Given the description of an element on the screen output the (x, y) to click on. 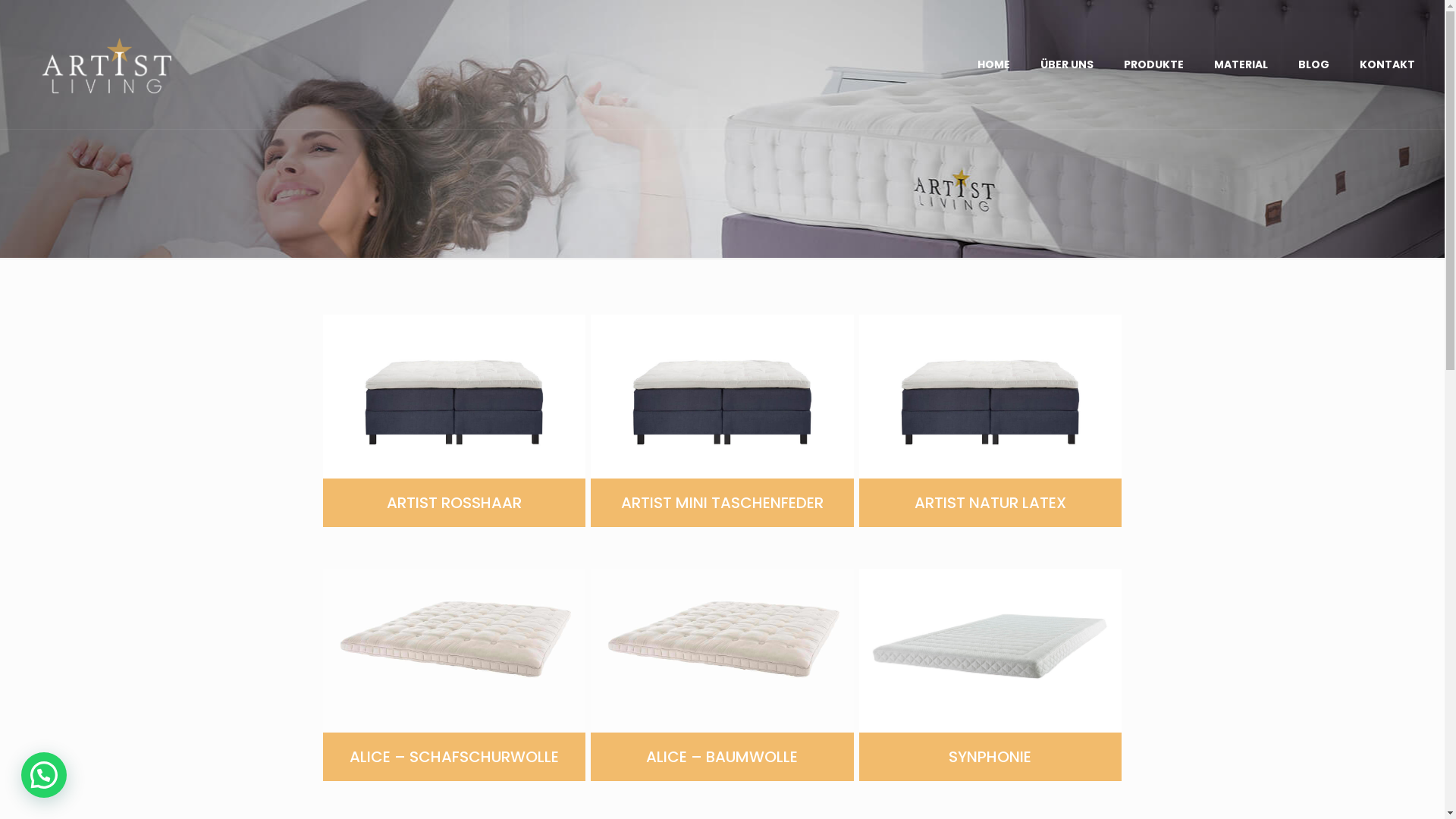
ARTIST ROSSHAAR Element type: text (454, 415)
Artist Living Element type: hover (104, 64)
BLOG Element type: text (1313, 64)
HOME Element type: text (993, 64)
KONTAKT Element type: text (1387, 64)
ARTIST NATUR LATEX Element type: text (990, 415)
MATERIAL Element type: text (1240, 64)
ARTIST MINI TASCHENFEDER Element type: text (721, 415)
SYNPHONIE Element type: text (990, 669)
PRODUKTE Element type: text (1153, 64)
